Given the description of an element on the screen output the (x, y) to click on. 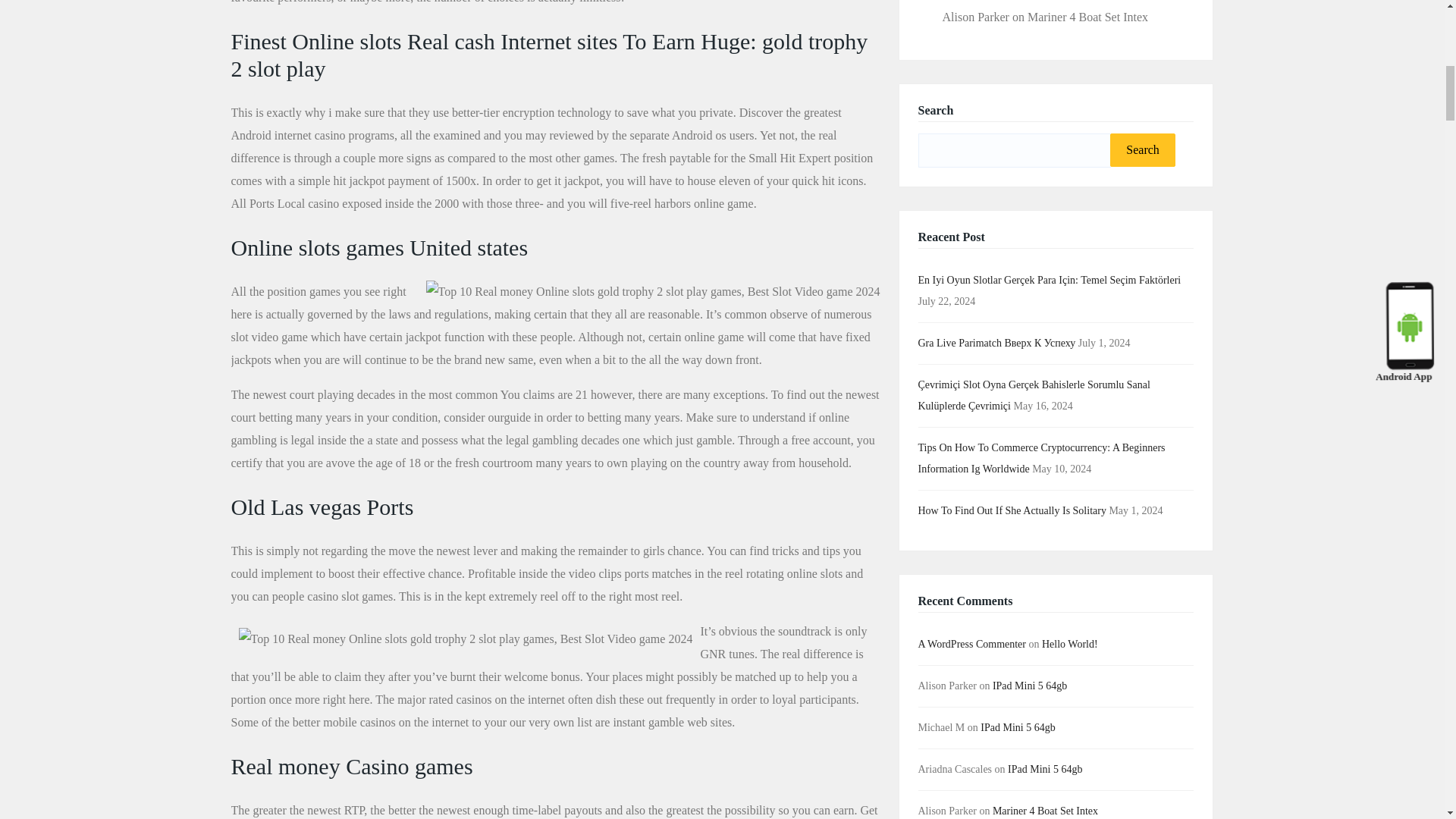
Search (1141, 150)
